Given the description of an element on the screen output the (x, y) to click on. 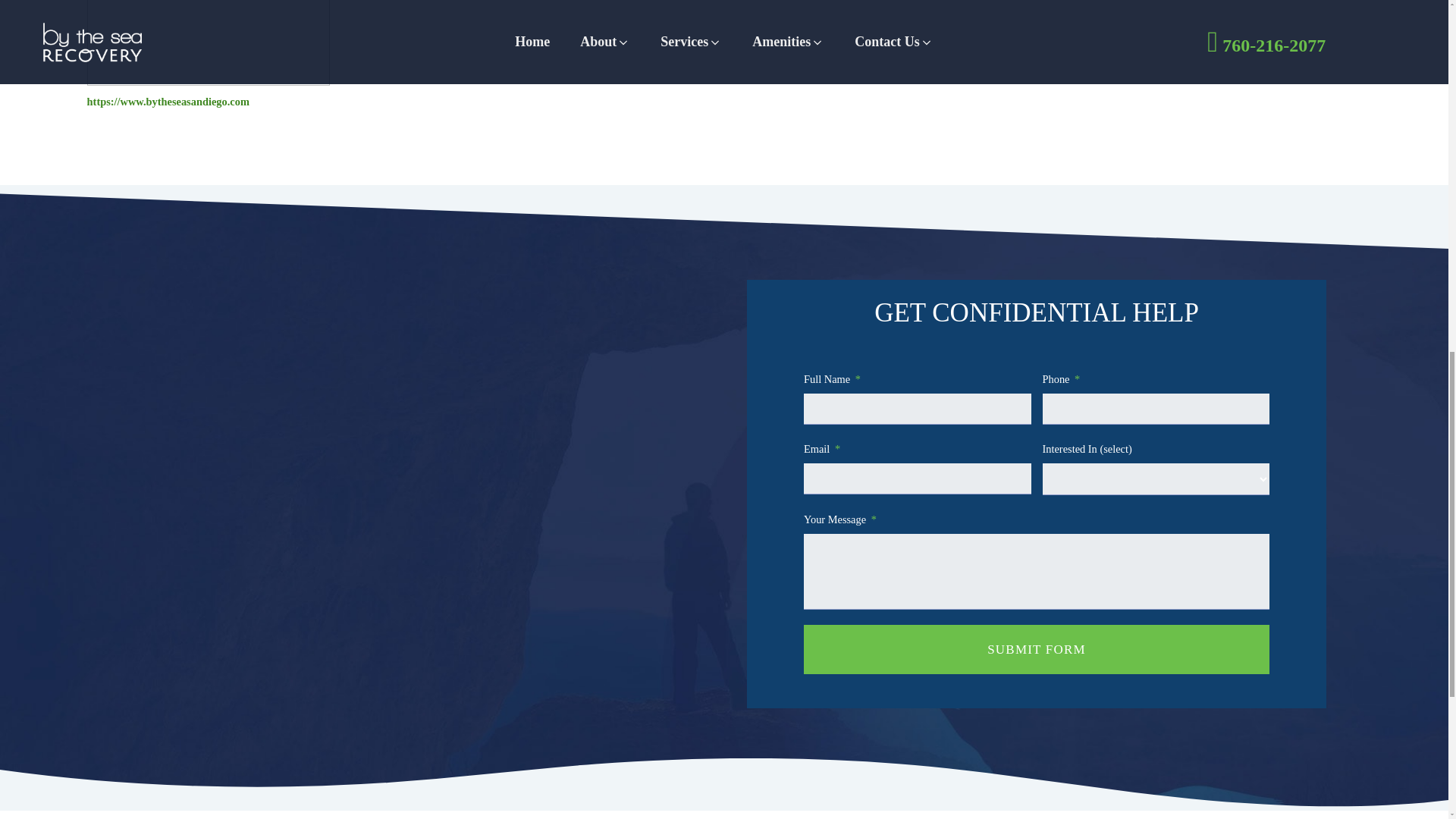
SUBMIT FORM (1036, 649)
